Given the description of an element on the screen output the (x, y) to click on. 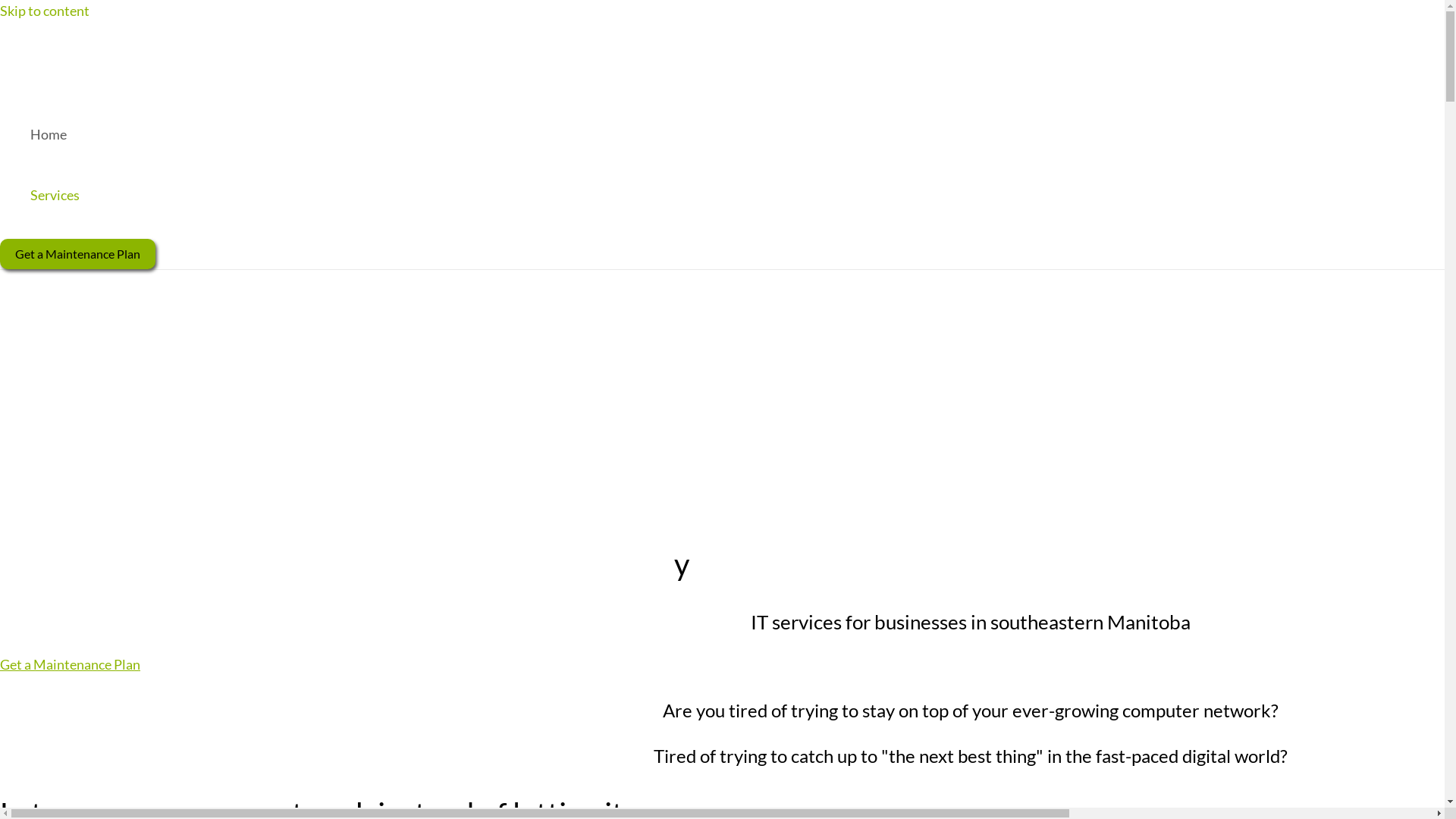
Get a Maintenance Plan Element type: text (70, 663)
Services Element type: text (54, 194)
Get a Maintenance Plan Element type: text (77, 253)
Skip to content Element type: text (44, 10)
Home Element type: text (54, 133)
